Given the description of an element on the screen output the (x, y) to click on. 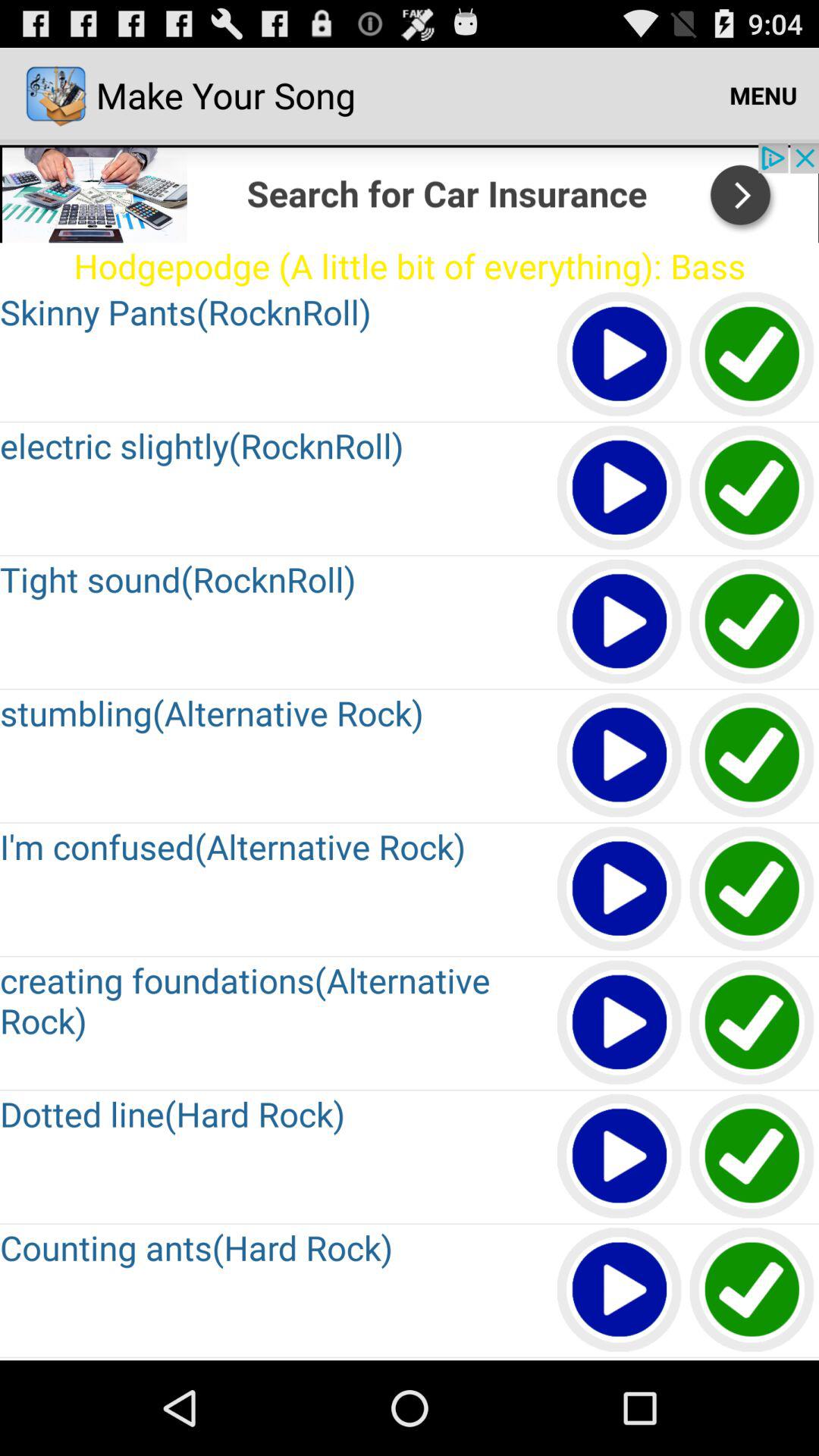
creating play (619, 1023)
